Given the description of an element on the screen output the (x, y) to click on. 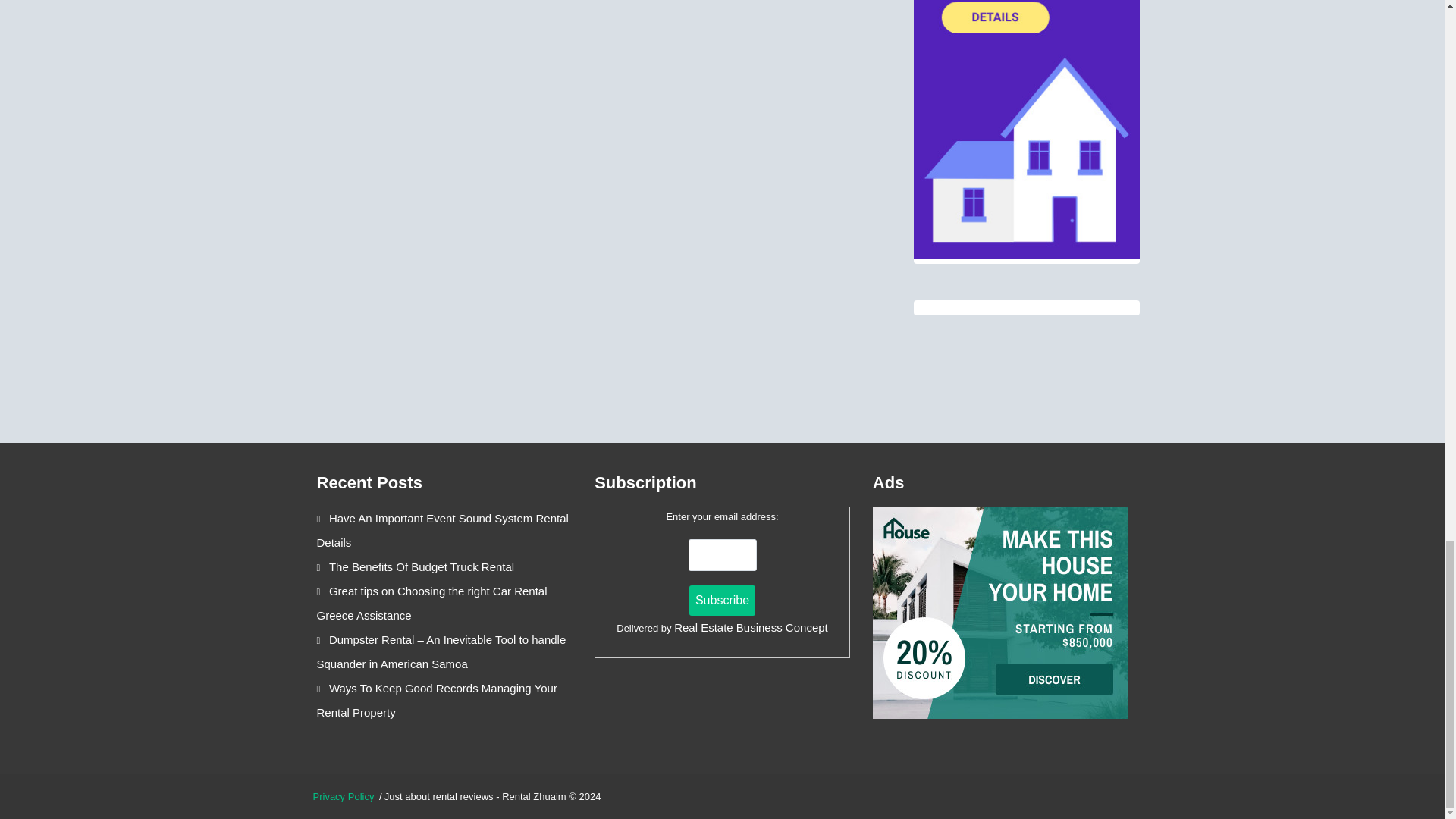
Subscribe (721, 600)
